Given the description of an element on the screen output the (x, y) to click on. 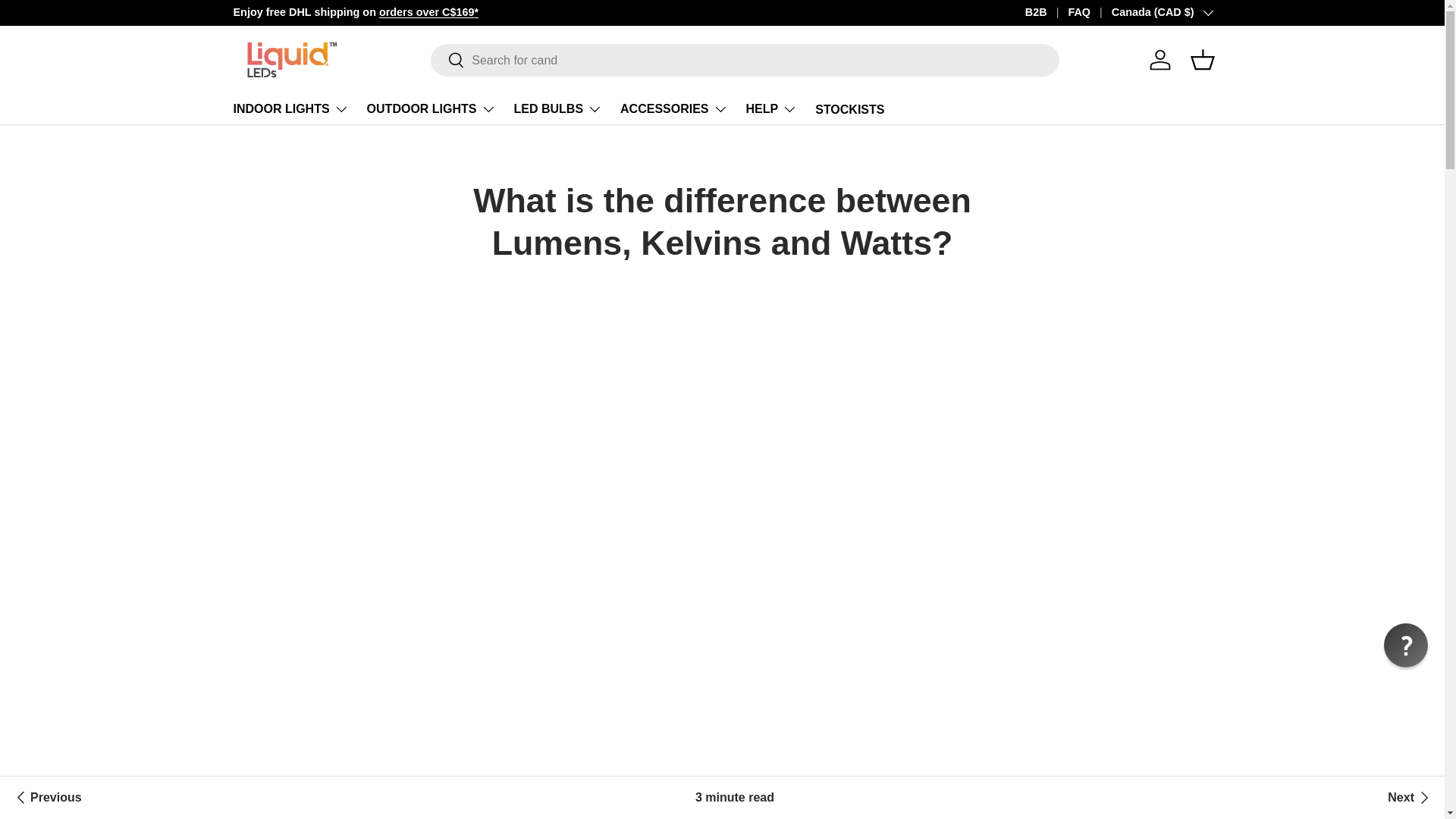
Shipping To Canada (428, 11)
Search (447, 60)
Skip to content (69, 21)
No Quibble Guarantee (1198, 11)
Basket (1203, 59)
The Ultimate Festoon Lighting Buying Guide (46, 797)
INDOOR LIGHTS (290, 109)
B2B (1046, 12)
Returns Policy (1198, 11)
OUTDOOR LIGHTS (431, 109)
FAQ (1088, 12)
Log in (1159, 59)
LED BULBS (557, 109)
